Given the description of an element on the screen output the (x, y) to click on. 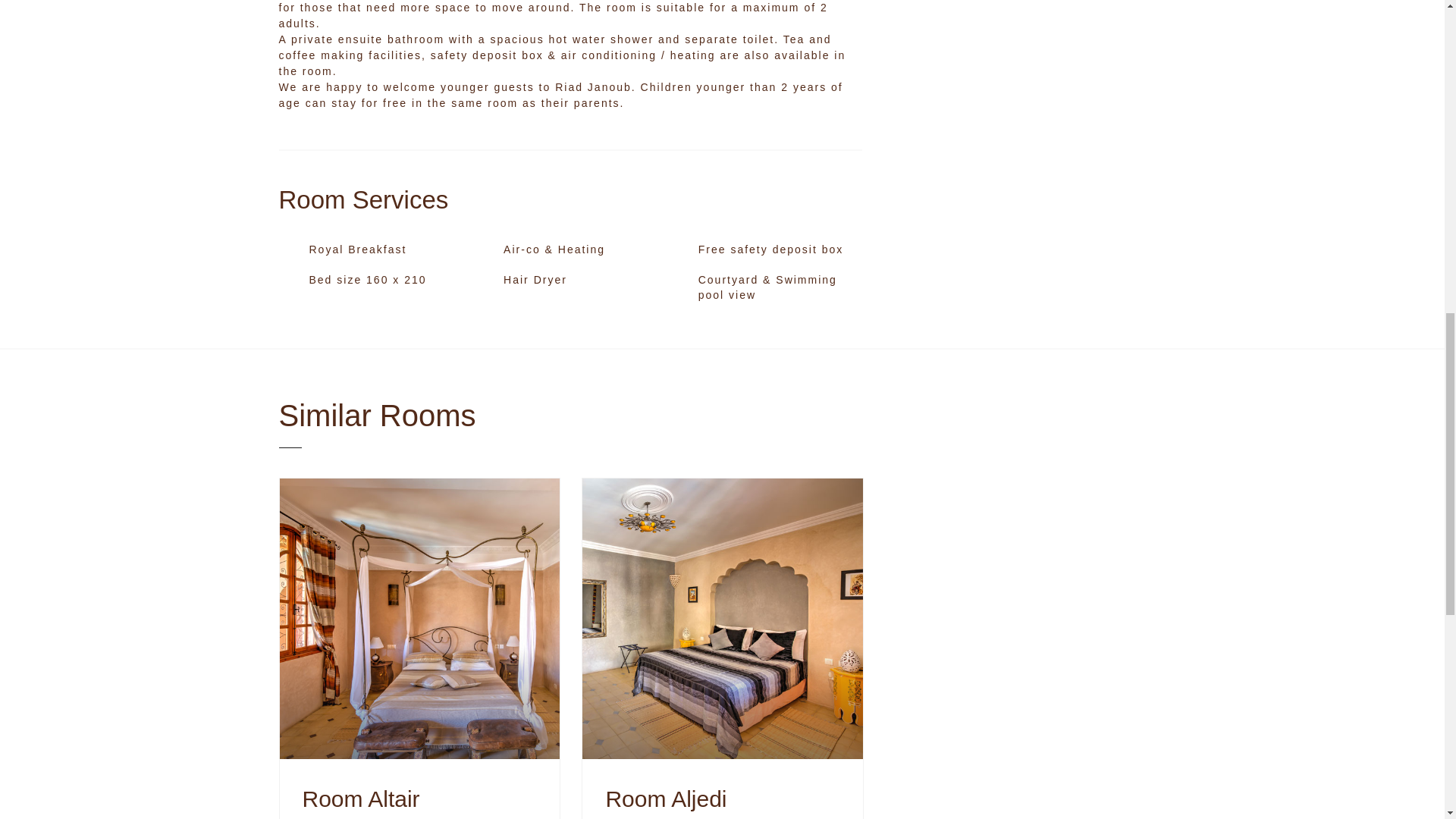
Room Altair (419, 798)
Room Aljedi (722, 798)
